Given the description of an element on the screen output the (x, y) to click on. 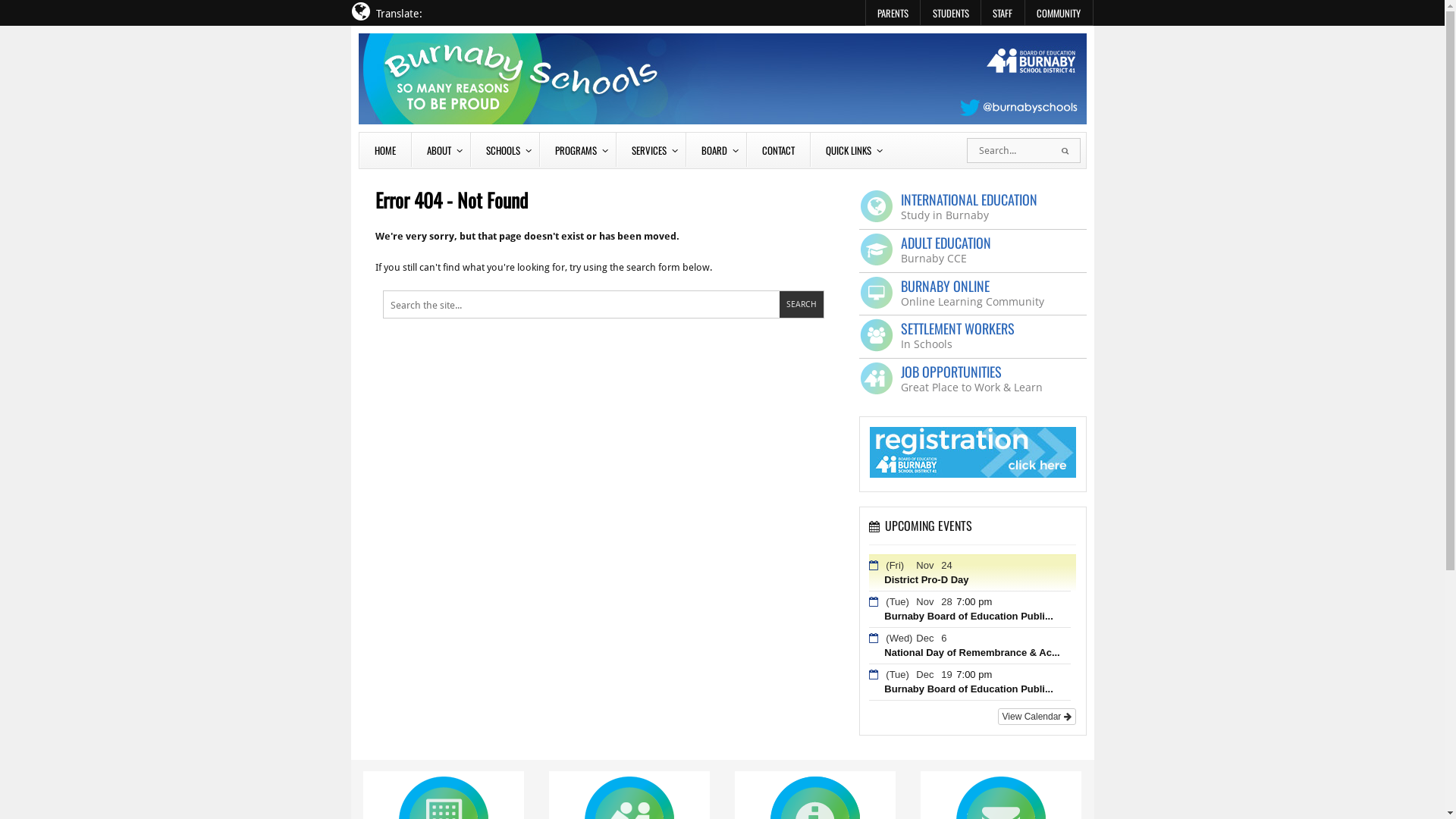
COMMUNITY Element type: text (1058, 12)
PARENTS Element type: text (893, 12)
STAFF Element type: text (1002, 12)
HOME Element type: text (385, 149)
District Pro-D Day Element type: text (918, 586)
Search Element type: text (800, 304)
7:00 pm
Burnaby Board of Education Publi... Element type: text (960, 681)
BURNABY ONLINE Element type: text (944, 285)
PROGRAMS Element type: text (576, 149)
CONTACT Element type: text (777, 149)
SCHOOLS Element type: text (504, 149)
STUDENTS Element type: text (950, 12)
SERVICES Element type: text (650, 149)
INTERNATIONAL EDUCATION Element type: text (968, 199)
BOARD Element type: text (715, 149)
SETTLEMENT WORKERS Element type: text (957, 328)
ADULT EDUCATION Element type: text (945, 242)
National Day of Remembrance & Ac... Element type: text (964, 659)
QUICK LINKS Element type: text (849, 149)
ABOUT Element type: text (440, 149)
7:00 pm
Burnaby Board of Education Publi... Element type: text (960, 608)
JOB OPPORTUNITIES Element type: text (950, 371)
View Calendar Element type: text (1036, 716)
